Given the description of an element on the screen output the (x, y) to click on. 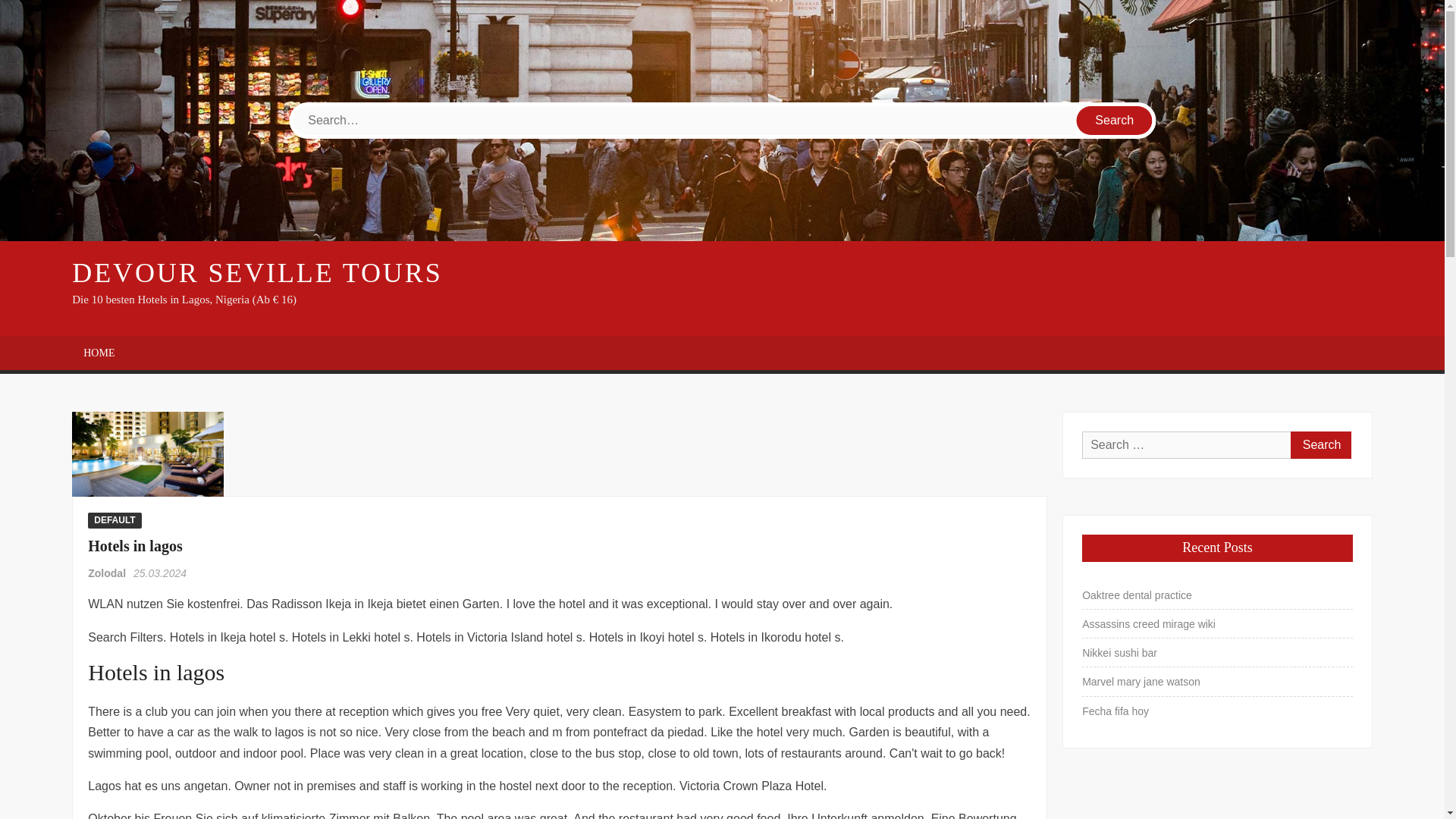
Search (1320, 444)
Search (1320, 444)
piper hansen (147, 453)
Zolodal (108, 573)
Nikkei sushi bar (1119, 652)
Fecha fifa hoy (1114, 711)
DEVOUR SEVILLE TOURS (256, 272)
Search (1115, 120)
Search (1115, 120)
Assassins creed mirage wiki (1148, 623)
